Given the description of an element on the screen output the (x, y) to click on. 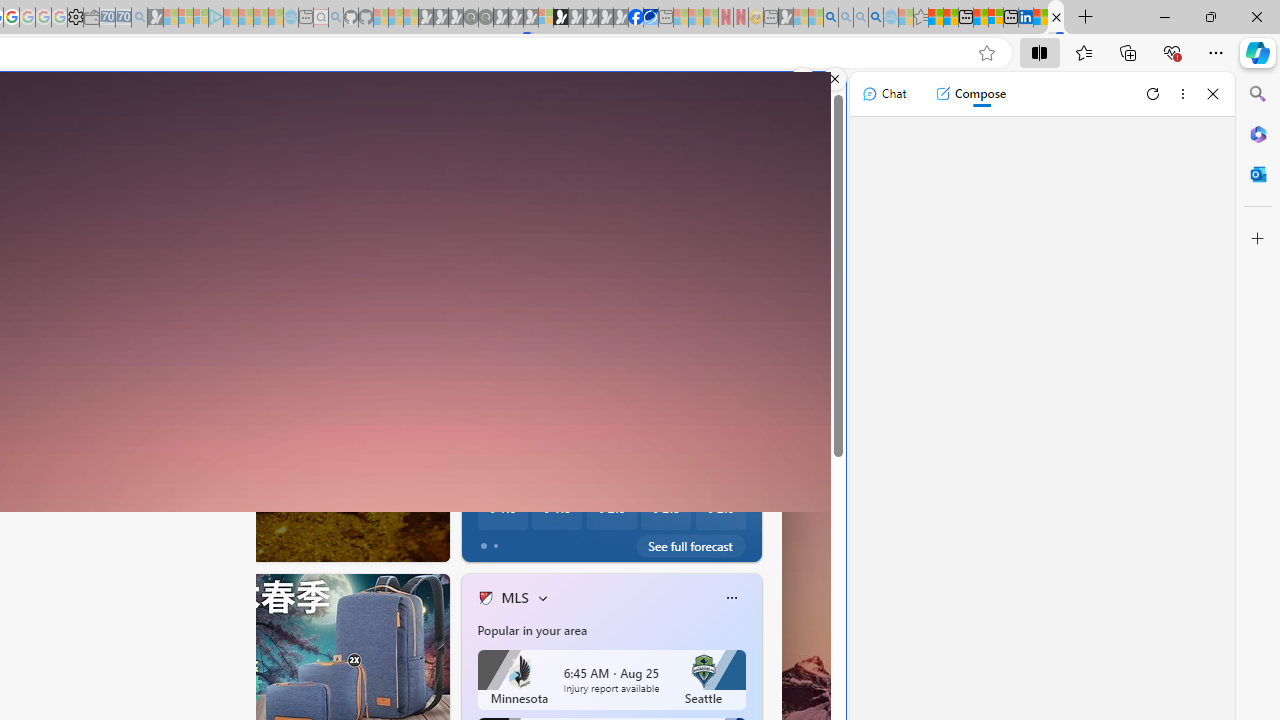
Geography Facts Most People Get Wrong (758, 506)
39 Like (487, 541)
12 Lies You Were Told About Space (758, 506)
AutomationID: tab-17 (116, 542)
887 Like (490, 541)
